Given the description of an element on the screen output the (x, y) to click on. 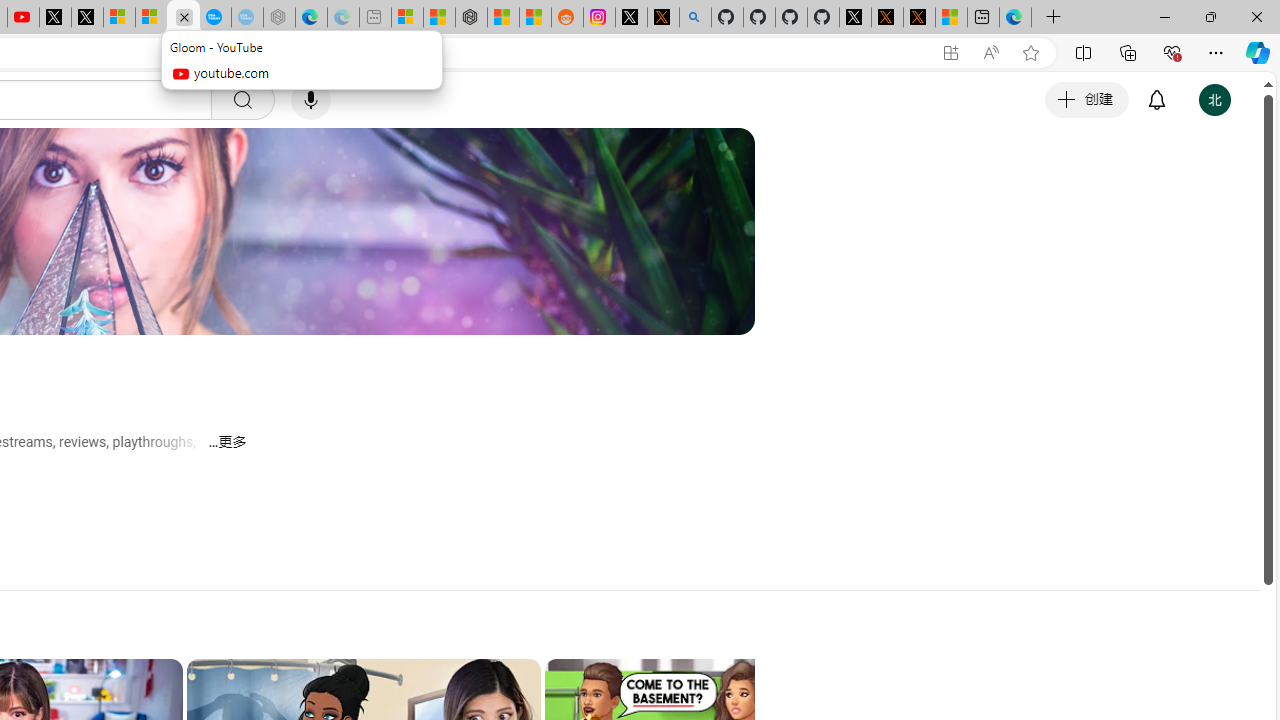
App available. Install YouTube (950, 53)
New tab (983, 17)
Shanghai, China Weather trends | Microsoft Weather (535, 17)
Restore (1210, 16)
Split screen (1083, 52)
Settings and more (Alt+F) (1215, 52)
Log in to X / X (630, 17)
New tab - Sleeping (374, 17)
New Tab (1053, 17)
